Given the description of an element on the screen output the (x, y) to click on. 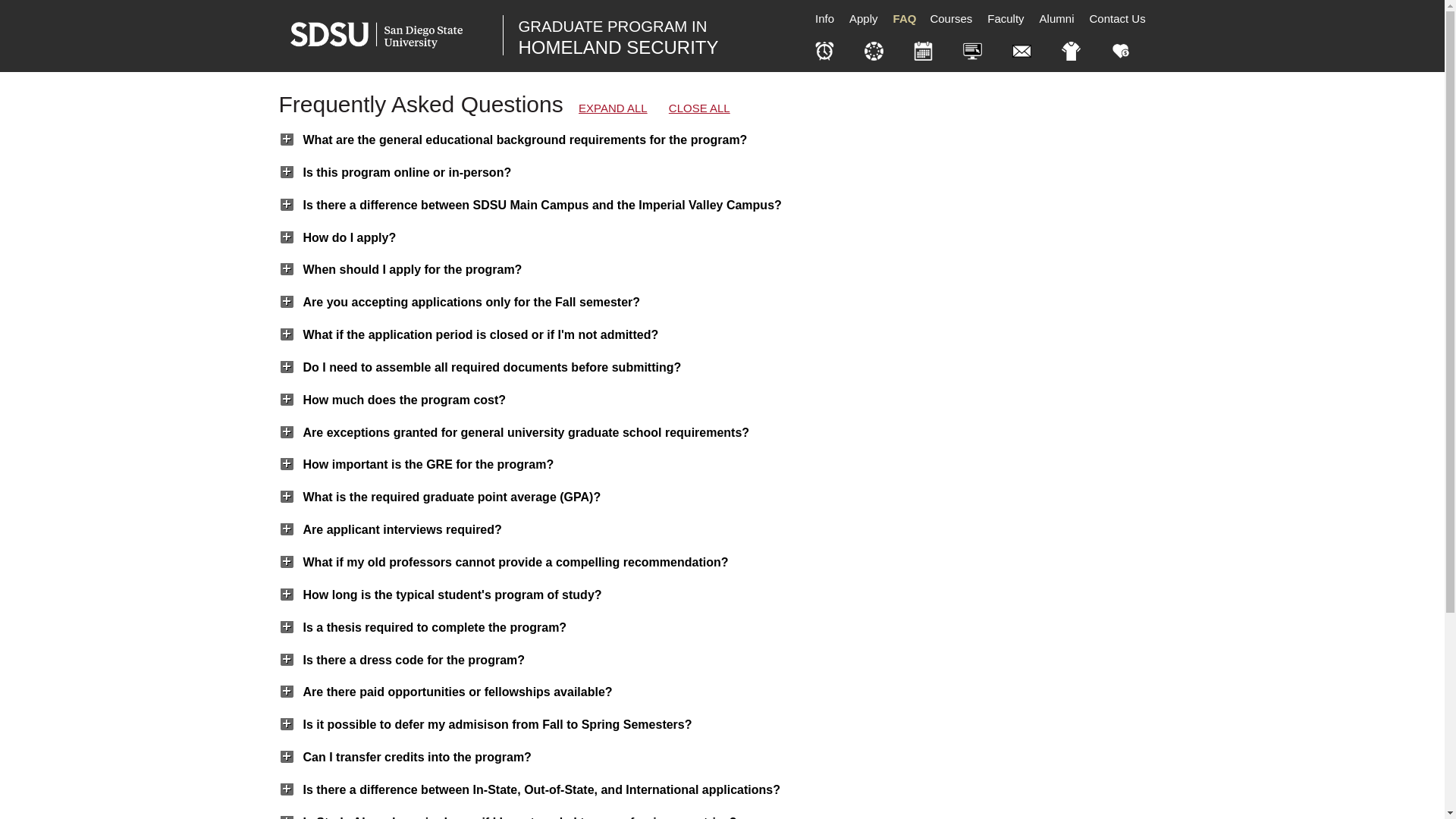
Alumni (1056, 18)
Contact Us (618, 36)
Courses (1117, 18)
Show all answers (950, 18)
FAQ (612, 108)
Info (904, 18)
Hide all answers (824, 18)
Faculty (699, 108)
Apply (1004, 18)
San Diego State University (863, 18)
